Given the description of an element on the screen output the (x, y) to click on. 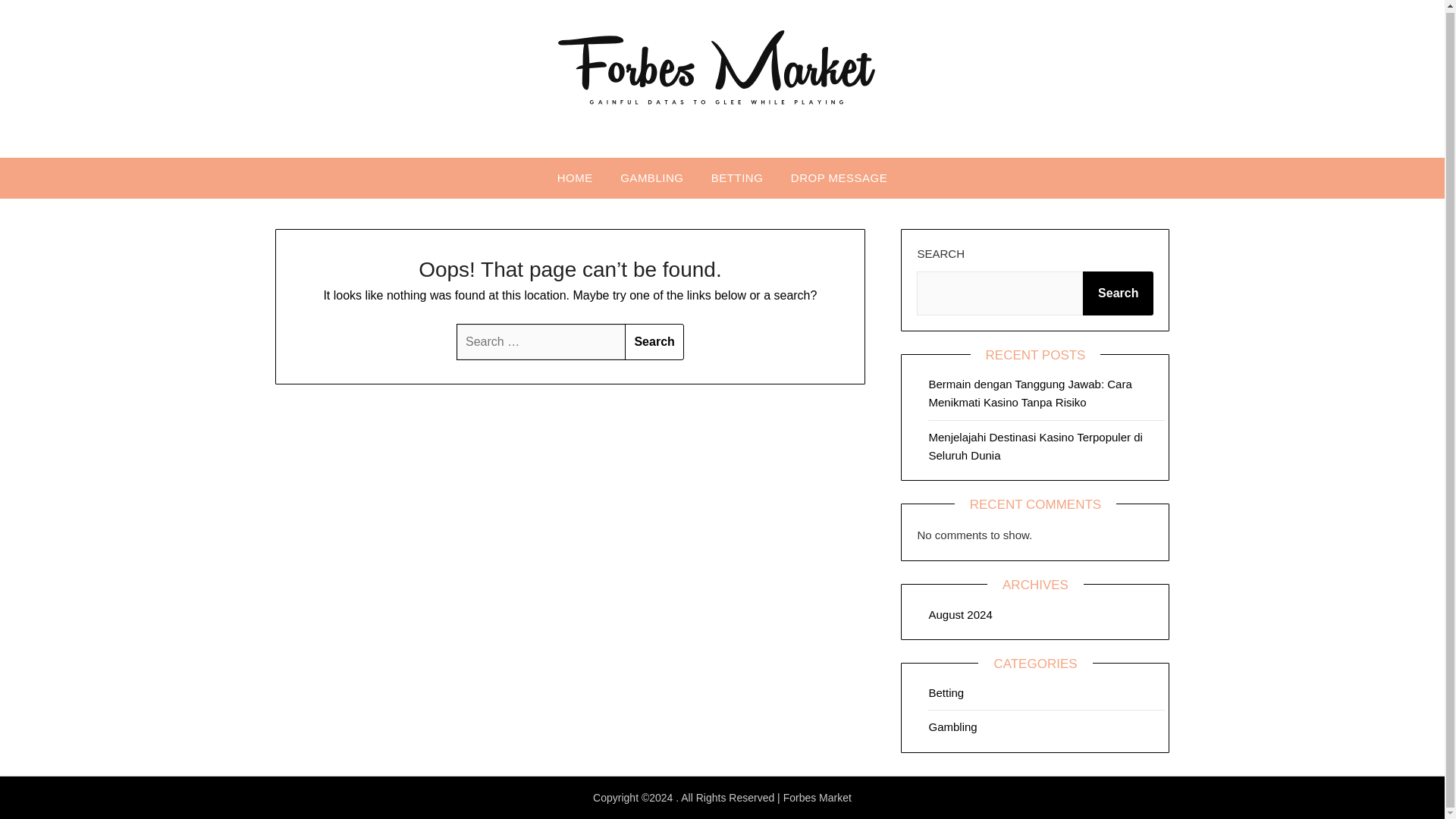
Search (1118, 293)
Betting (945, 692)
Gambling (952, 726)
Search (653, 341)
Search (653, 341)
August 2024 (959, 614)
DROP MESSAGE (838, 178)
Search (653, 341)
BETTING (737, 178)
